Given the description of an element on the screen output the (x, y) to click on. 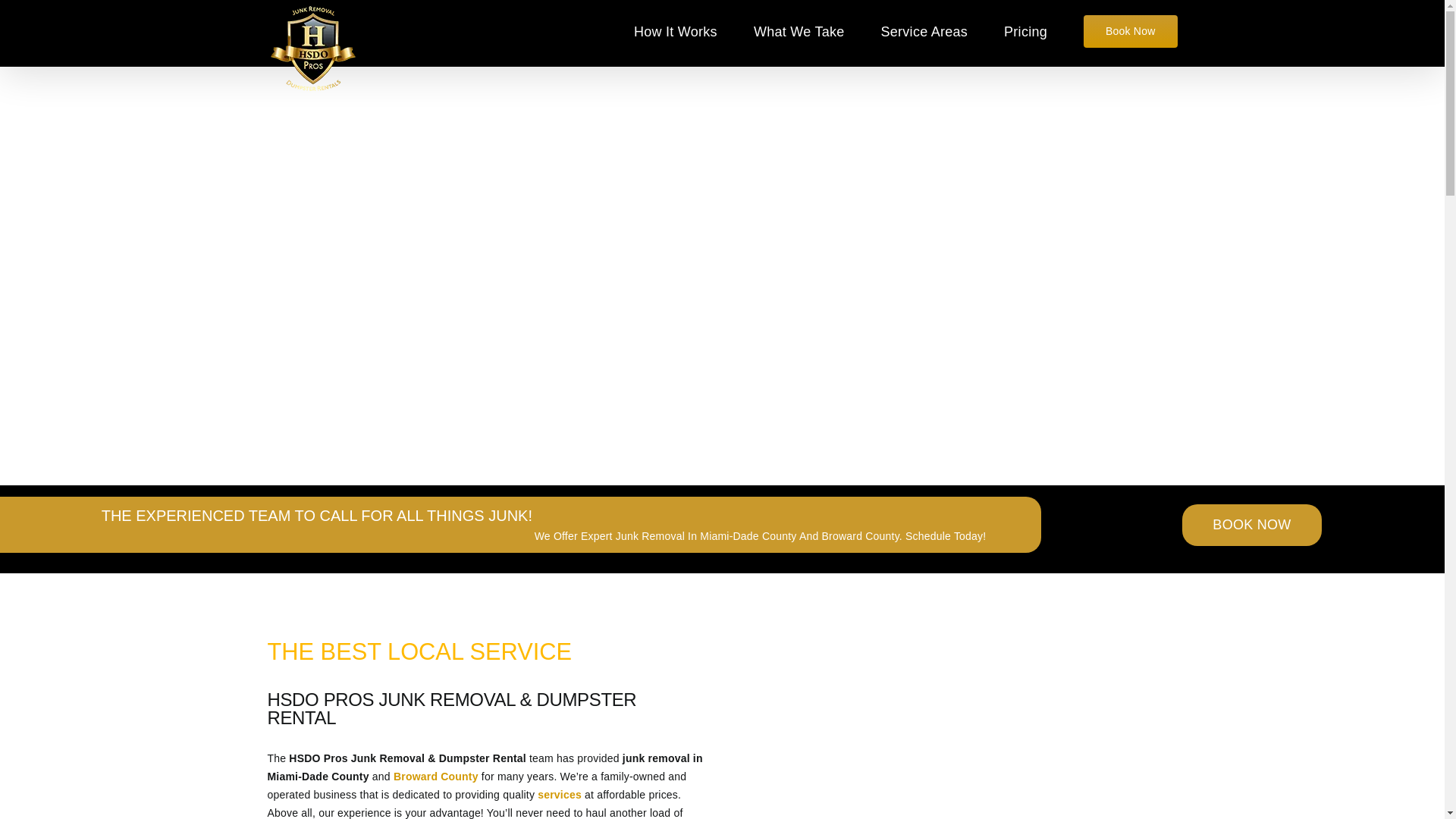
BOOK NOW (1251, 525)
Broward County (436, 776)
services (558, 794)
Service Areas (924, 30)
How It Works (675, 30)
Book Now (1130, 30)
What We Take (799, 30)
